Given the description of an element on the screen output the (x, y) to click on. 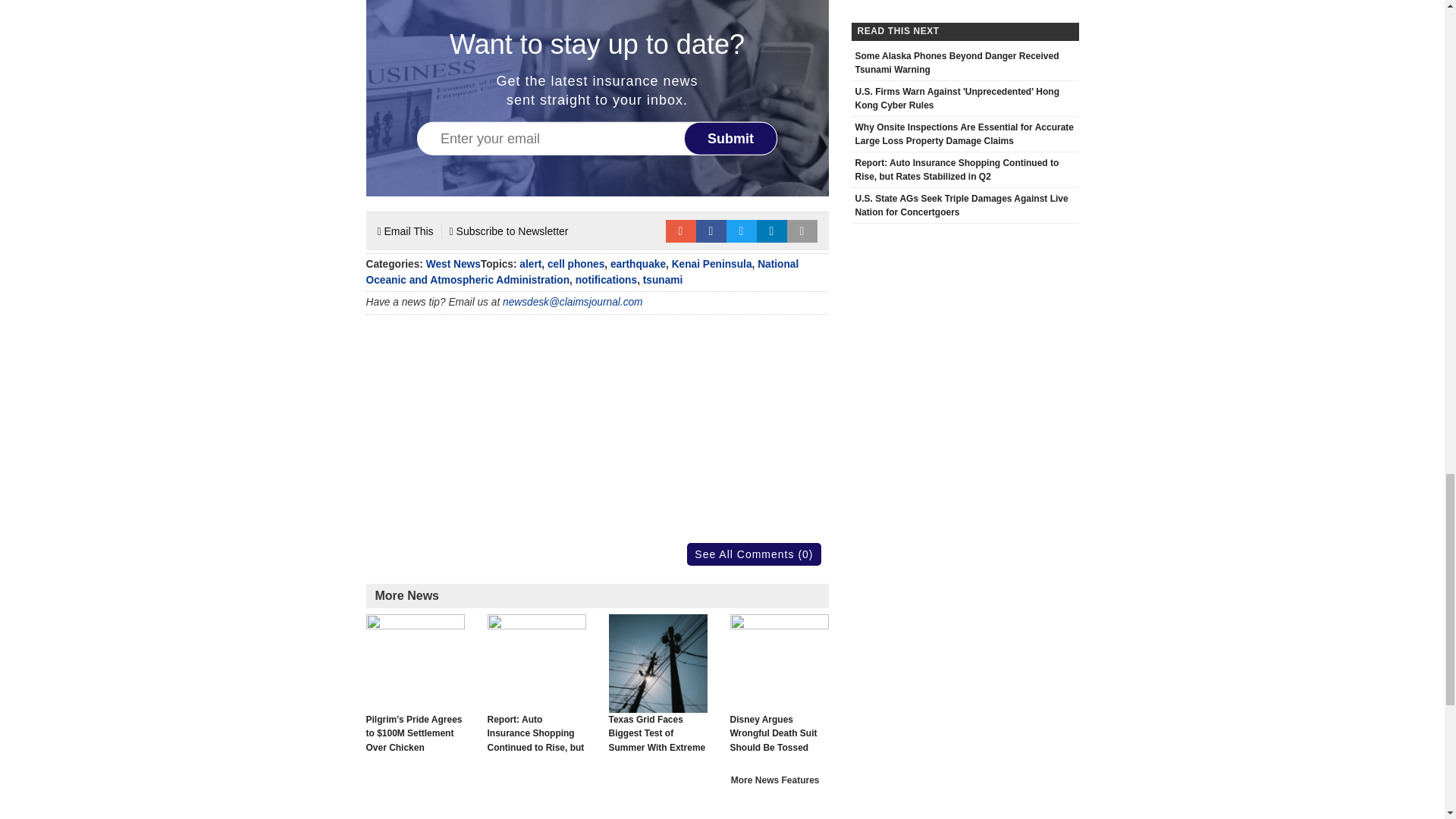
Post to Facebook. (710, 231)
Print Article (801, 231)
Share on LinkedIn. (772, 231)
Submit (730, 137)
Subscribe to Newsletter (509, 231)
Email to a friend (680, 231)
Email to a friend (680, 231)
Email This (405, 231)
Share on Twitter. (741, 231)
